Given the description of an element on the screen output the (x, y) to click on. 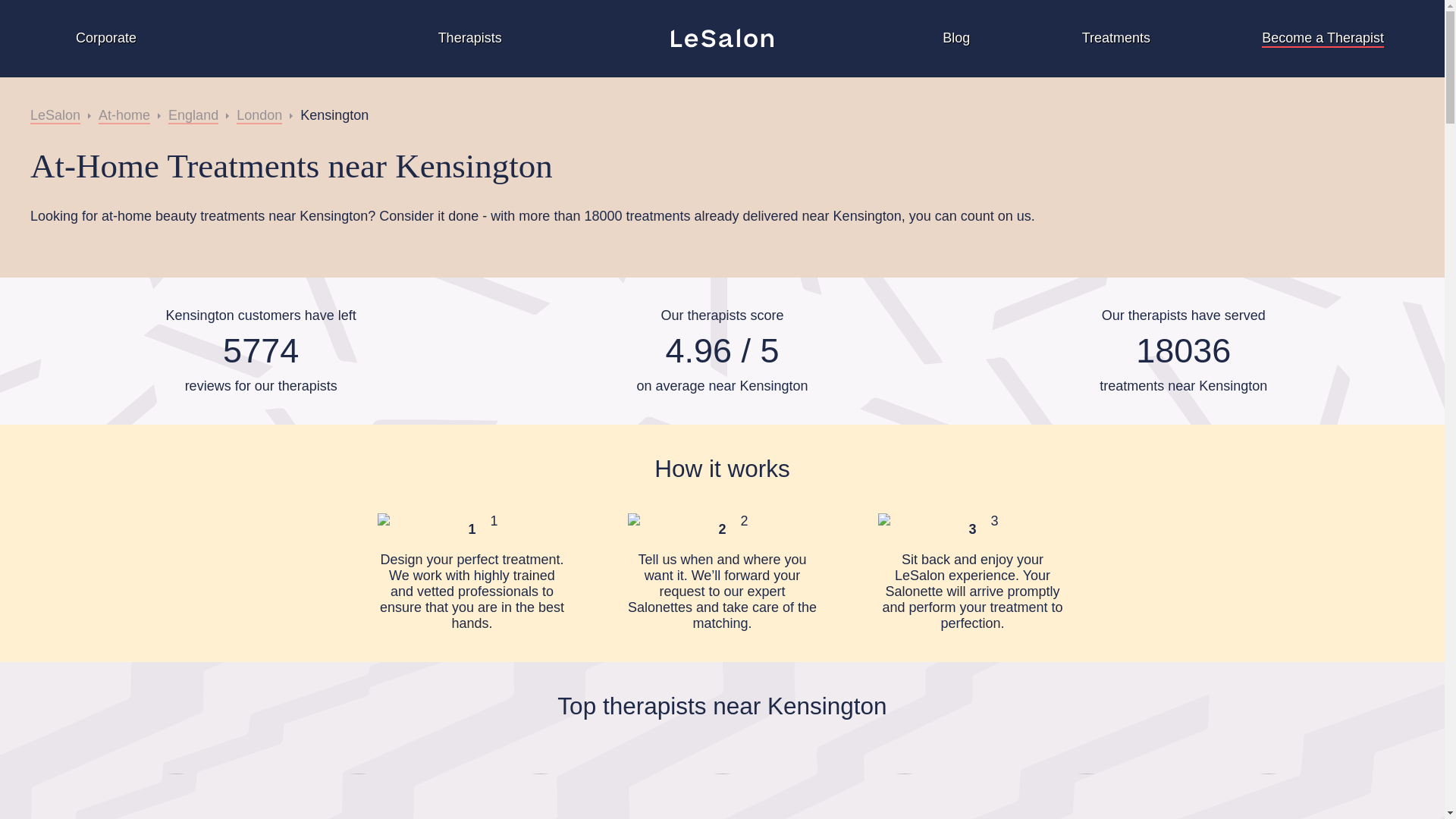
LeSalon (175, 796)
London (1086, 796)
England (55, 115)
Become a Therapist (1267, 796)
Corporate (358, 796)
